Given the description of an element on the screen output the (x, y) to click on. 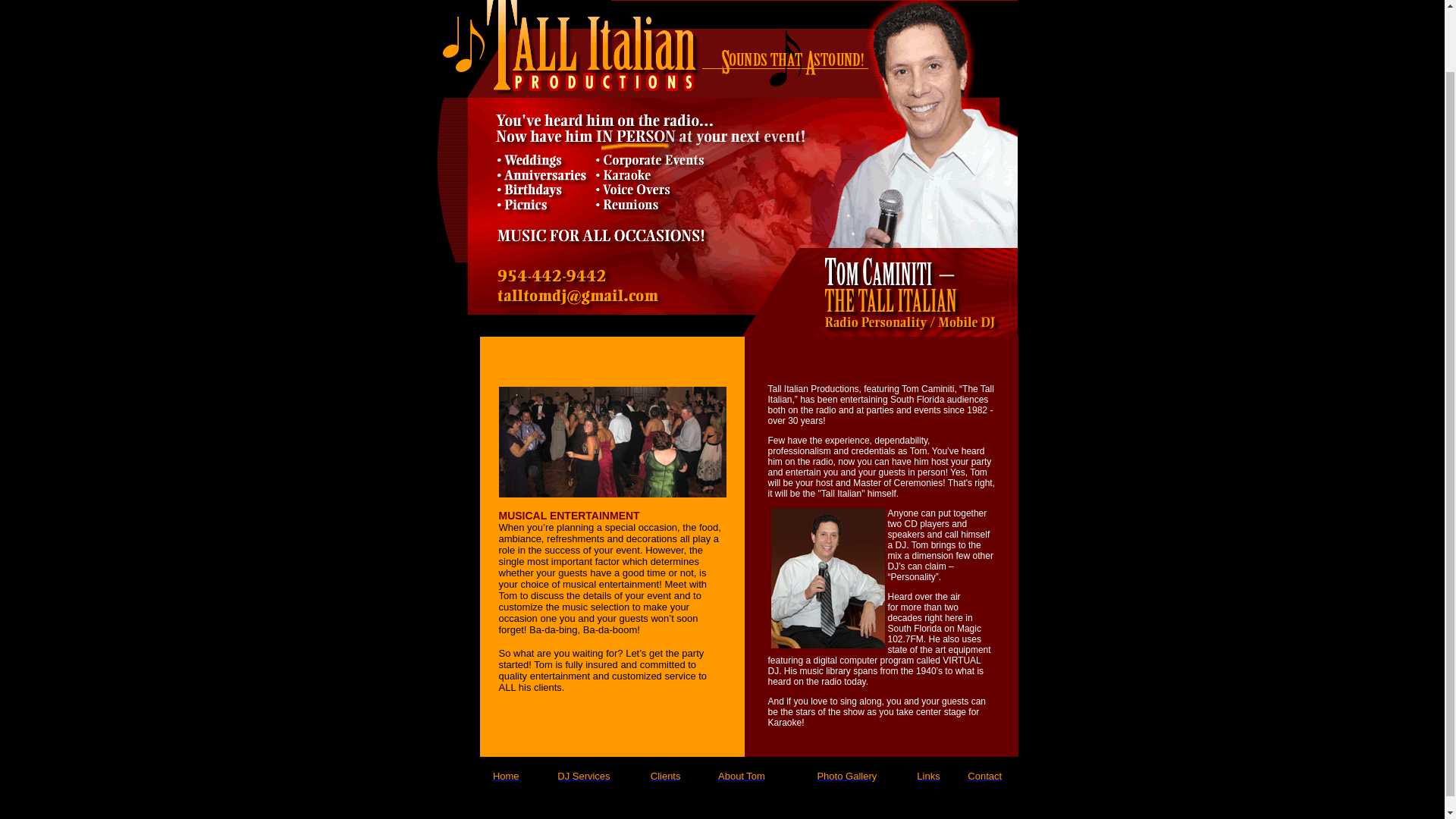
About Tom (741, 776)
Photo Gallery (846, 776)
Contact (984, 776)
Links (928, 776)
Home (506, 776)
DJ Services (583, 776)
Clients (665, 776)
